Given the description of an element on the screen output the (x, y) to click on. 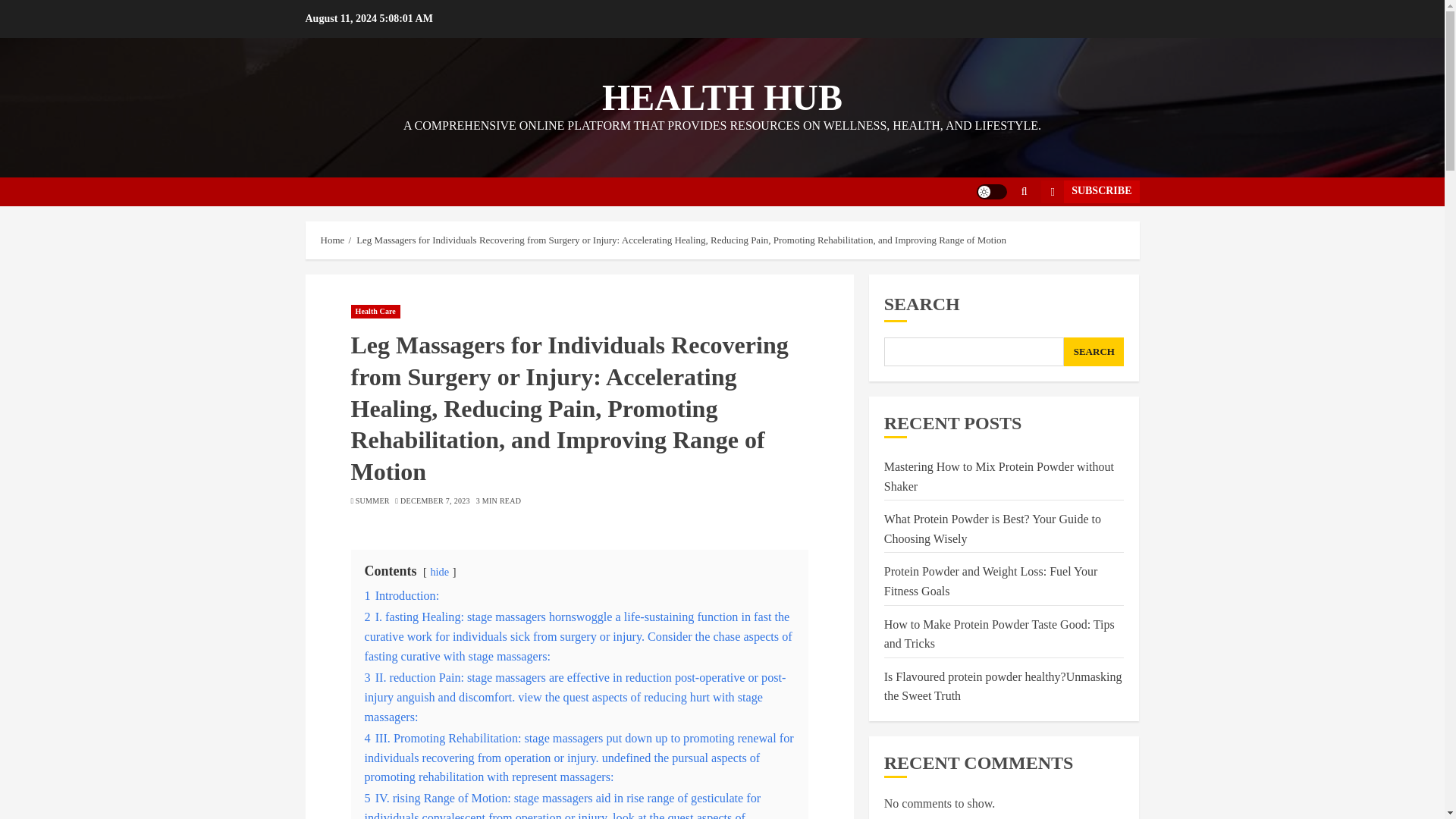
Health Care (374, 311)
hide (438, 571)
Protein Powder and Weight Loss: Fuel Your Fitness Goals (990, 581)
1 Introduction: (401, 595)
DECEMBER 7, 2023 (435, 501)
